Given the description of an element on the screen output the (x, y) to click on. 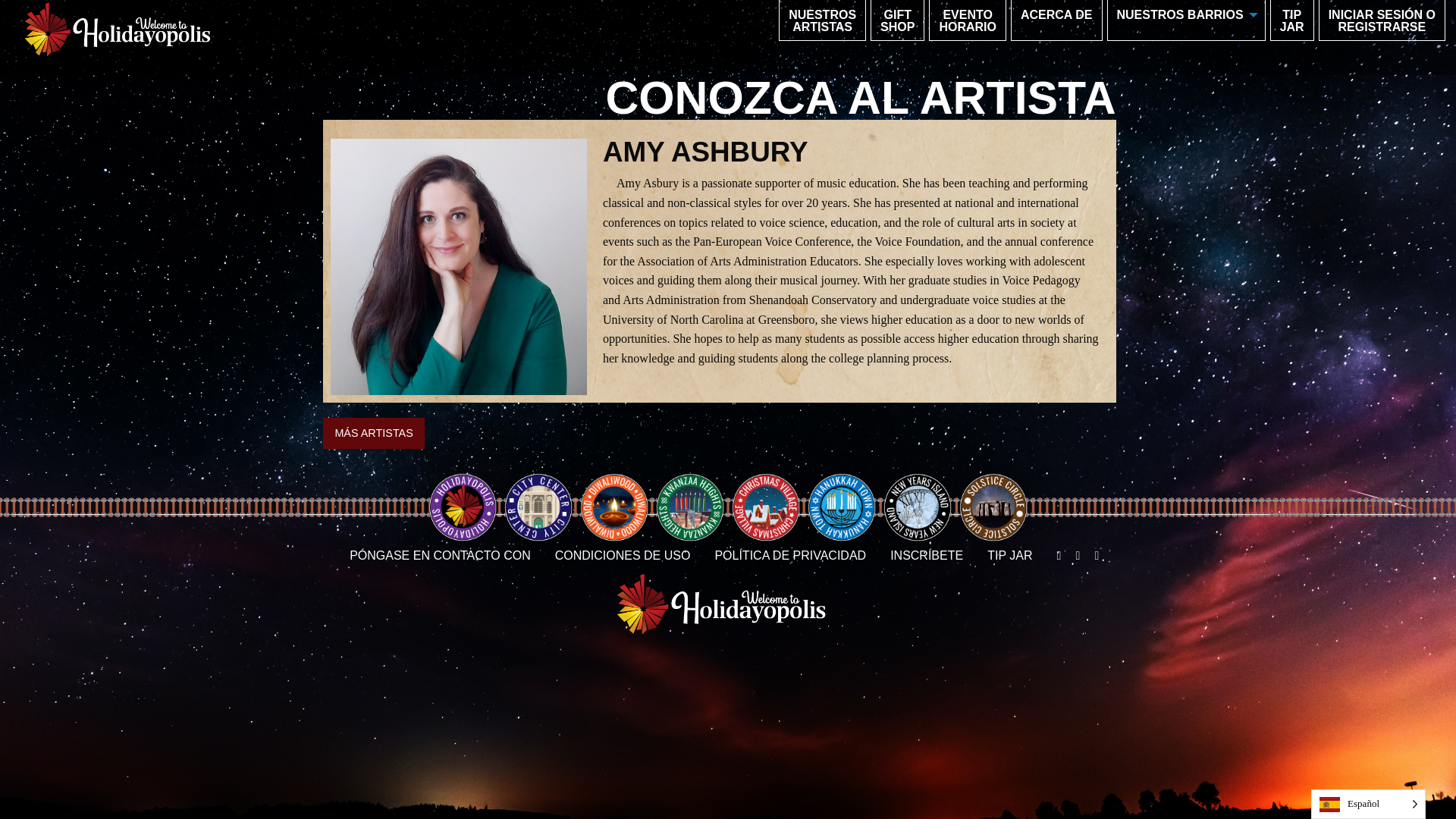
ALTURAS DE KWANZAA (822, 21)
CONDICIONES DE USO (689, 507)
Centro de la ciudad (1292, 21)
CIUDAD DE HANUKKAH (623, 555)
NUESTROS BARRIOS (537, 507)
Feliz Holidayopolis (897, 21)
ACERCA DE (842, 507)
Diwaliwood (1184, 15)
TIP JAR (968, 21)
